Given the description of an element on the screen output the (x, y) to click on. 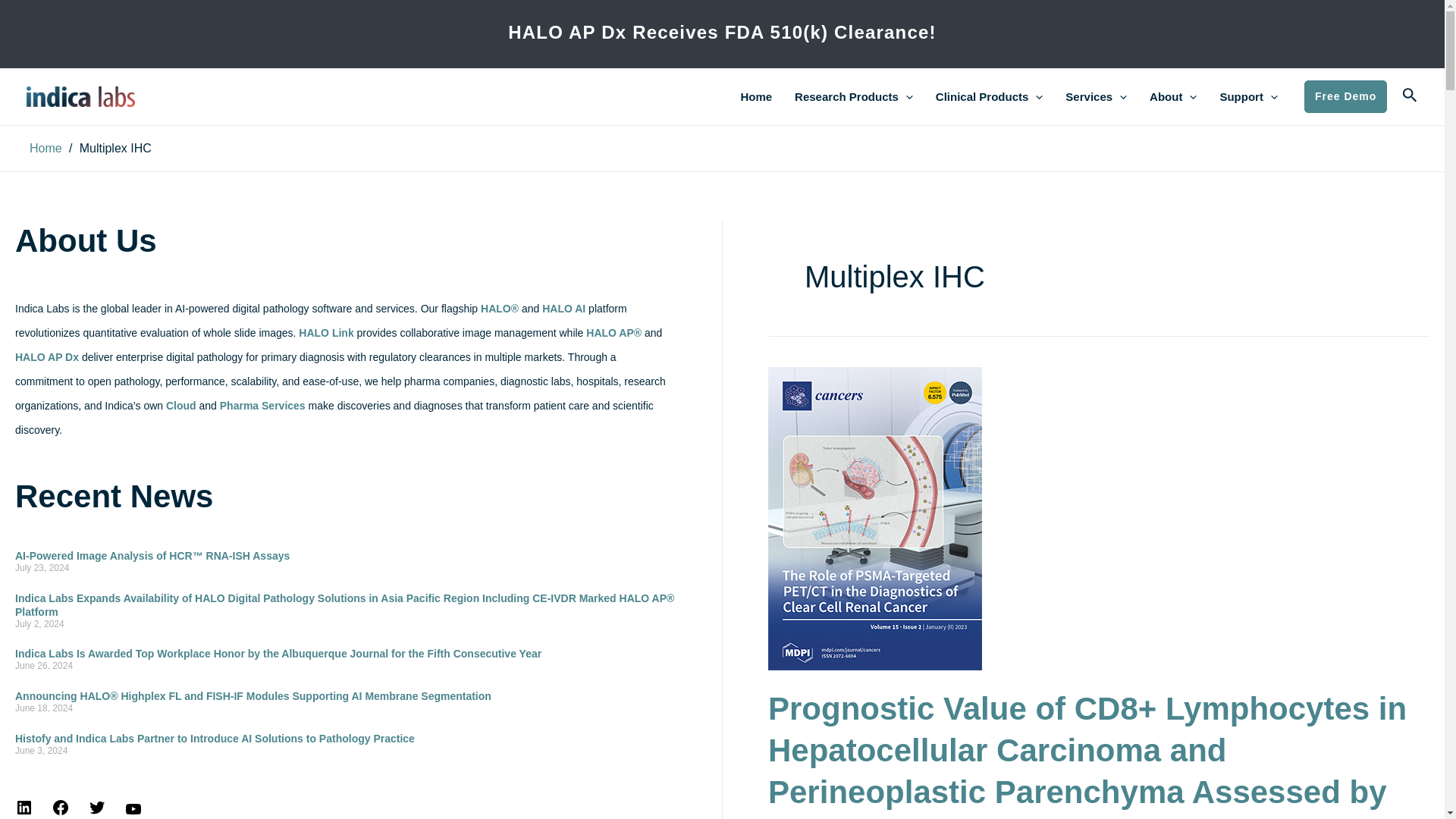
Clinical Products (989, 96)
Research Products (853, 96)
Services (1096, 96)
Home (756, 96)
About (1173, 96)
Free Demo (1345, 96)
Support (1248, 96)
